Given the description of an element on the screen output the (x, y) to click on. 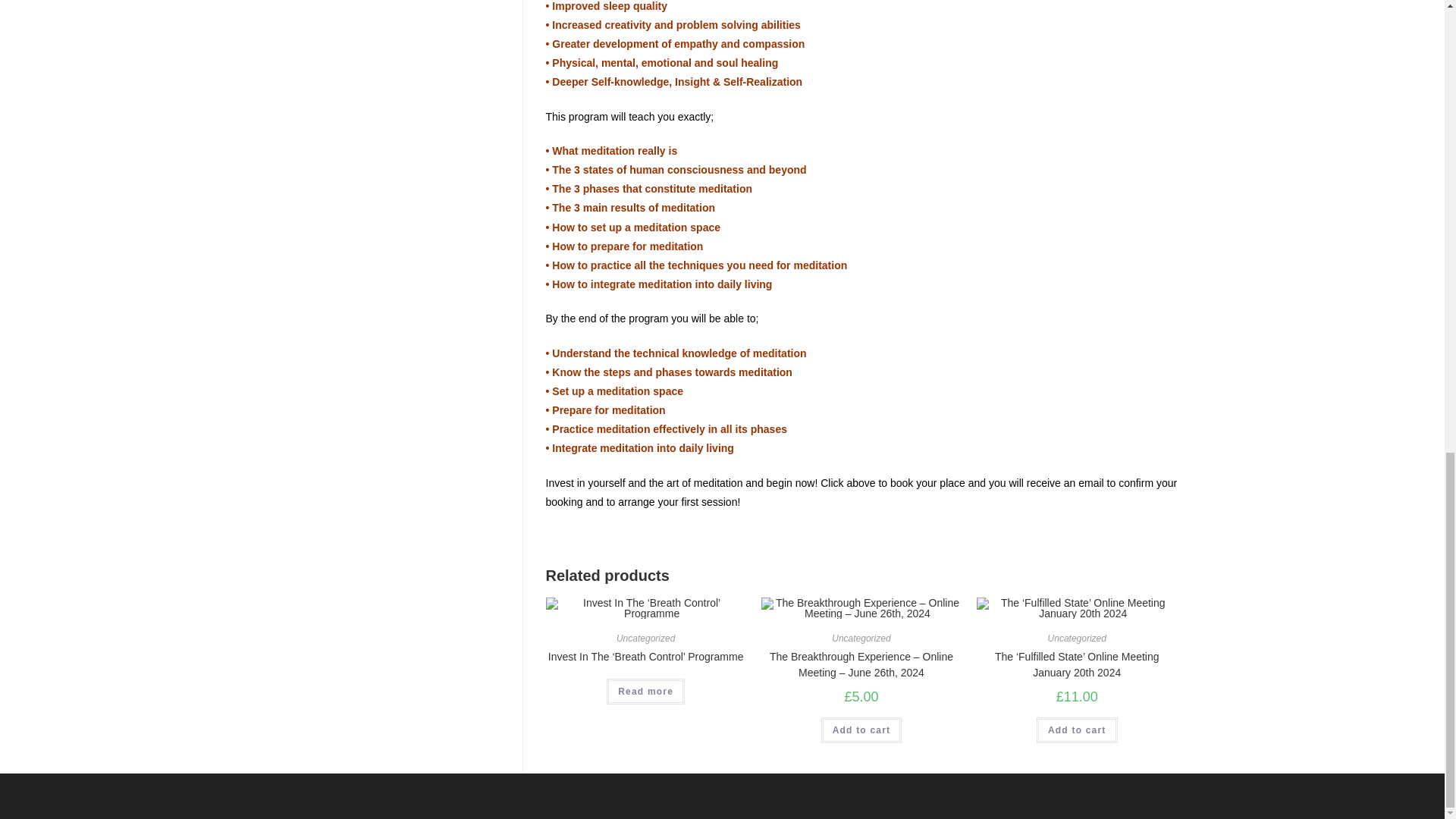
Uncategorized (645, 638)
Add to cart (861, 729)
Uncategorized (860, 638)
Uncategorized (1077, 638)
Read more (645, 691)
